Given the description of an element on the screen output the (x, y) to click on. 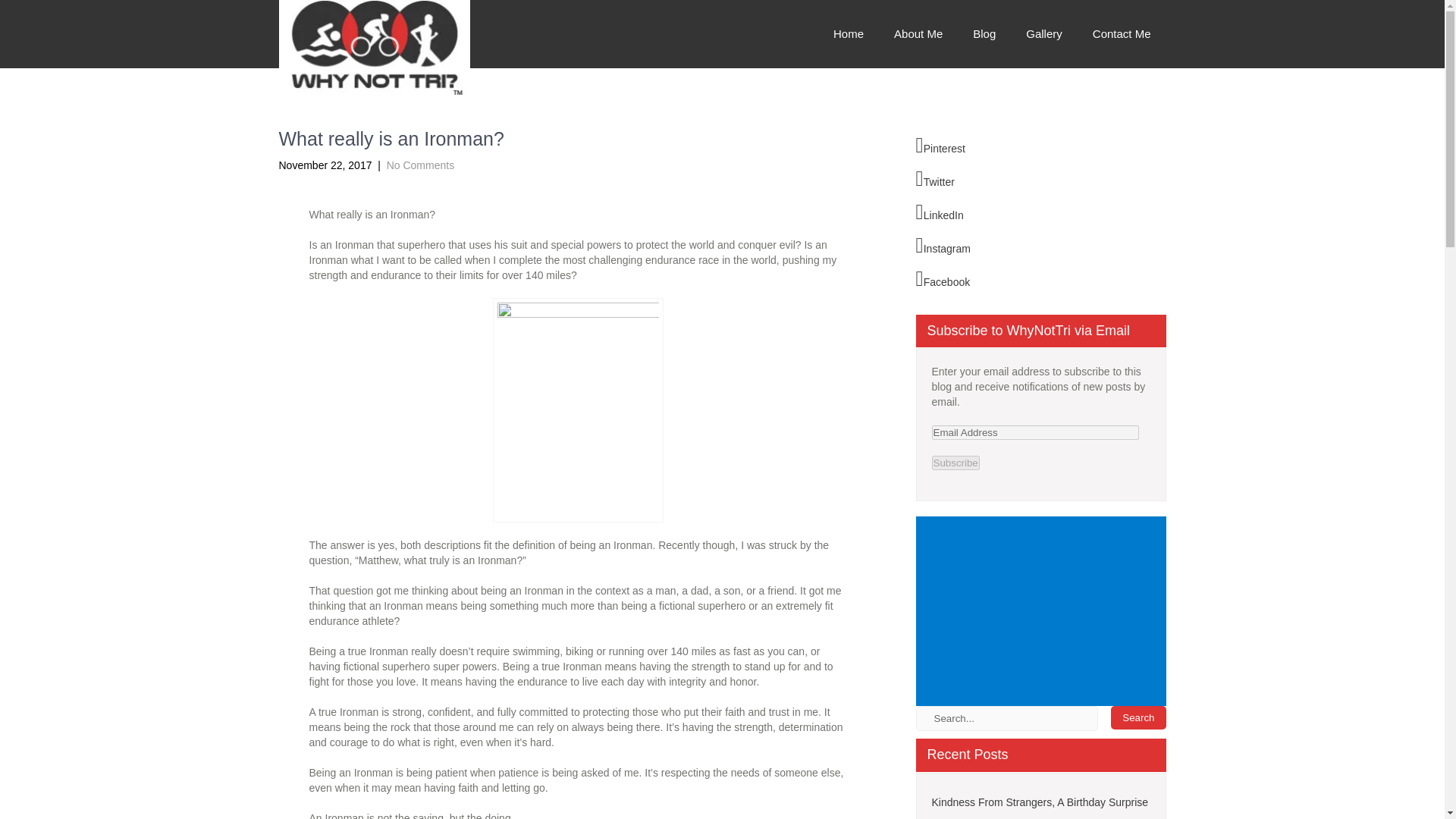
Home (848, 33)
Search (1138, 717)
No Comments (420, 164)
LinkedIn (939, 211)
Contact Me (1121, 33)
Search (1138, 717)
Instagram (943, 245)
Subscribe (954, 462)
Visit  on LinkedIn (939, 211)
Visit  on Facebook (943, 278)
